Given the description of an element on the screen output the (x, y) to click on. 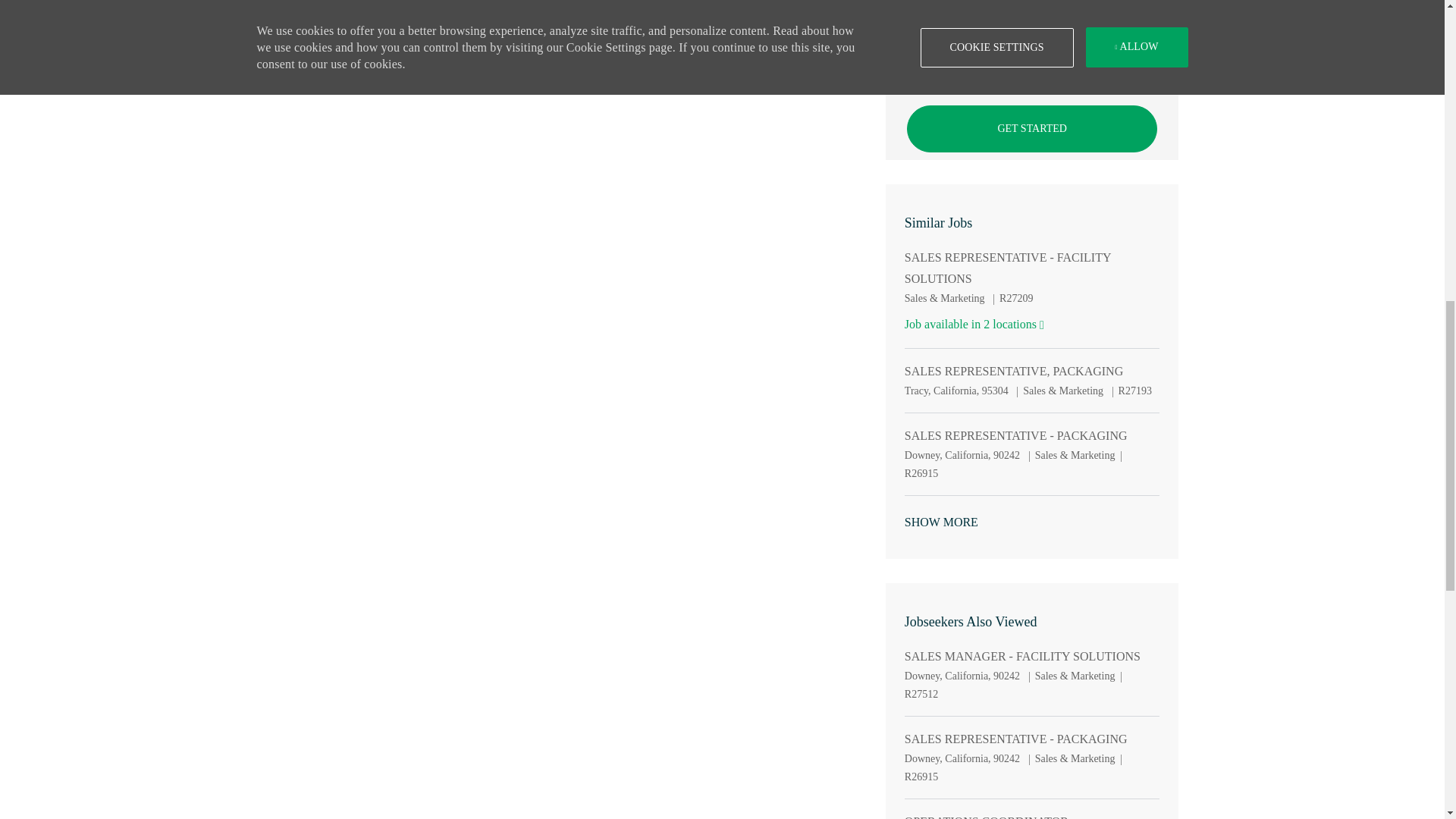
SALES REPRESENTATIVE - PACKAGING (1015, 435)
GET STARTED (1032, 128)
SALES REPRESENTATIVE - FACILITY SOLUTIONS (1032, 268)
SALES REPRESENTATIVE, PACKAGING (1013, 371)
Job available in 2 locations (973, 324)
